Given the description of an element on the screen output the (x, y) to click on. 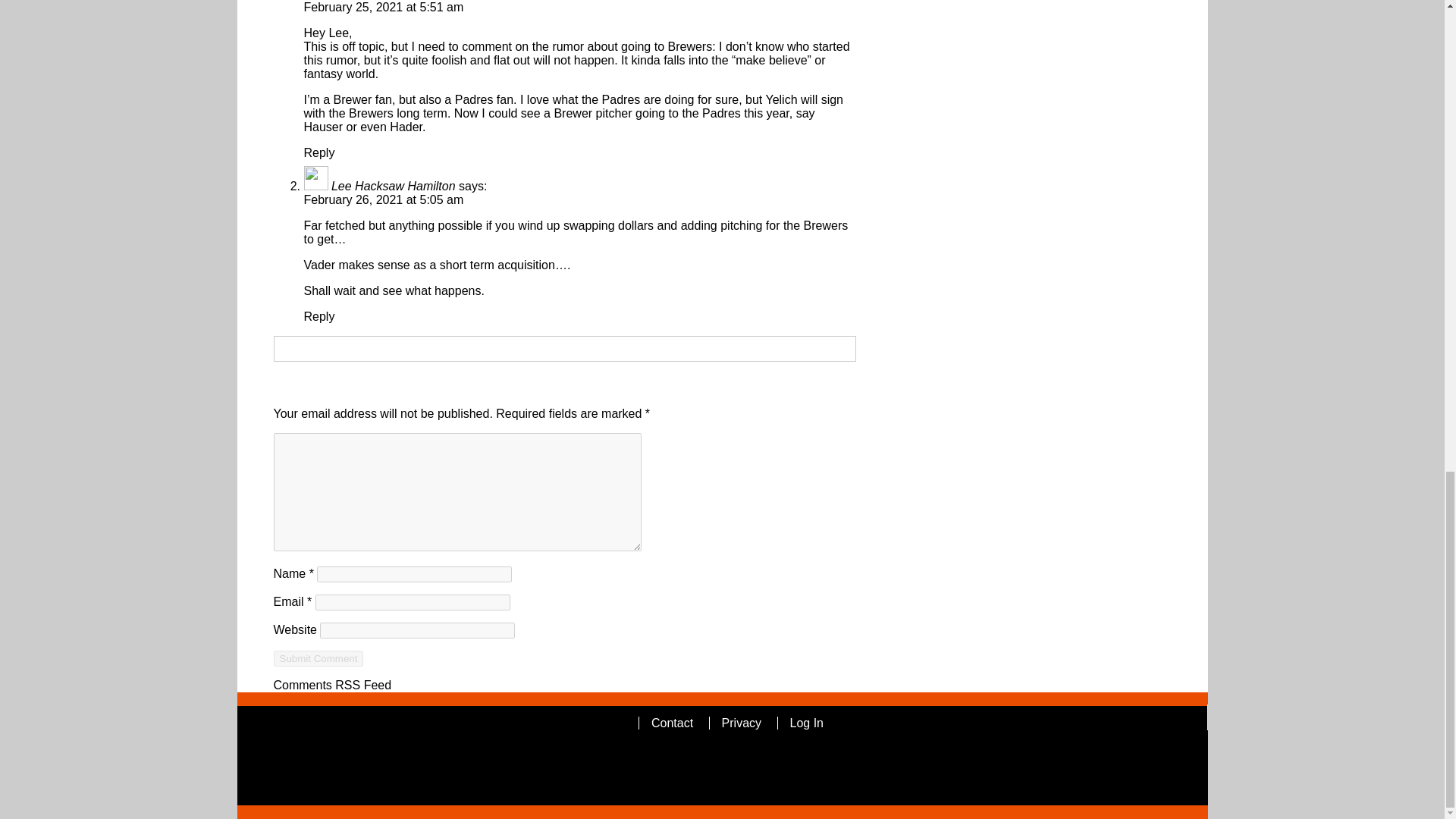
February 26, 2021 at 5:05 am (382, 199)
Reply (318, 152)
Comments RSS Feed (332, 684)
Reply (318, 316)
Submit Comment (317, 658)
February 25, 2021 at 5:51 am (382, 6)
Submit Comment (317, 658)
